Given the description of an element on the screen output the (x, y) to click on. 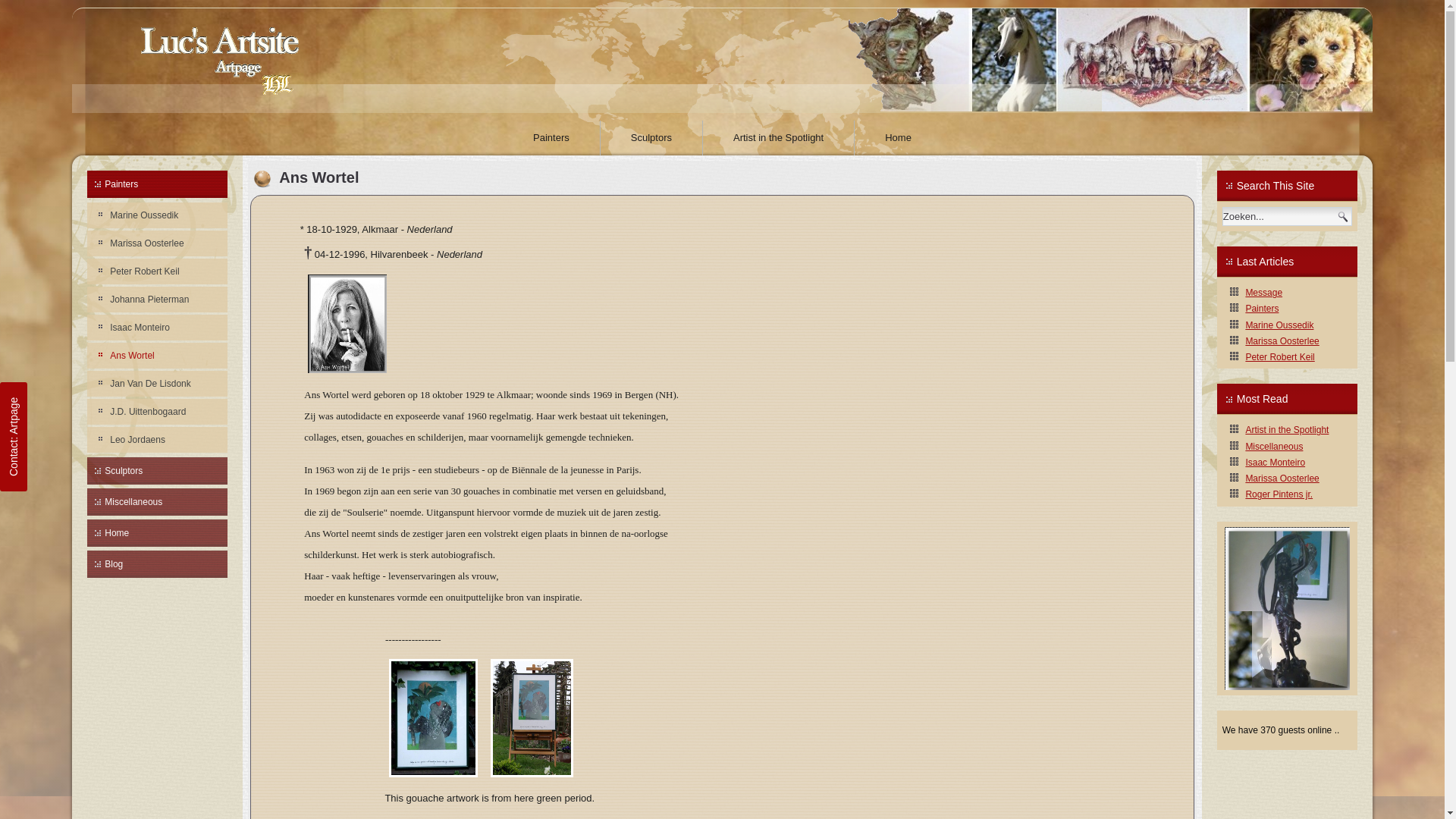
Blog Element type: text (157, 563)
Roger Pintens jr. Element type: text (1278, 494)
Marissa Oosterlee Element type: text (1281, 478)
Johanna Pieterman Element type: text (157, 299)
Home Element type: text (897, 137)
Miscellaneous Element type: text (157, 501)
Peter Robert Keil Element type: text (1279, 356)
Home Element type: text (157, 532)
Painters Element type: text (1261, 308)
Peter Robert Keil Element type: text (157, 271)
Artist in the Spotlight Element type: text (1286, 429)
Artist in the Spotlight Element type: text (777, 137)
Ans Wortel Element type: text (157, 355)
Marine Oussedik Element type: text (157, 215)
Marissa Oosterlee Element type: text (157, 243)
Painters Element type: text (157, 183)
Leo Jordaens Element type: text (157, 439)
Isaac Monteiro Element type: text (1275, 462)
Sculptors Element type: text (651, 137)
Painters Element type: text (550, 137)
Isaac Monteiro Element type: text (157, 327)
Sculptors Element type: text (157, 470)
Marine Oussedik Element type: text (1279, 325)
Jan Van De Lisdonk Element type: text (157, 383)
J.D. Uittenbogaard Element type: text (157, 411)
Miscellaneous Element type: text (1273, 446)
Marissa Oosterlee Element type: text (1281, 340)
Message Element type: text (1263, 292)
